Given the description of an element on the screen output the (x, y) to click on. 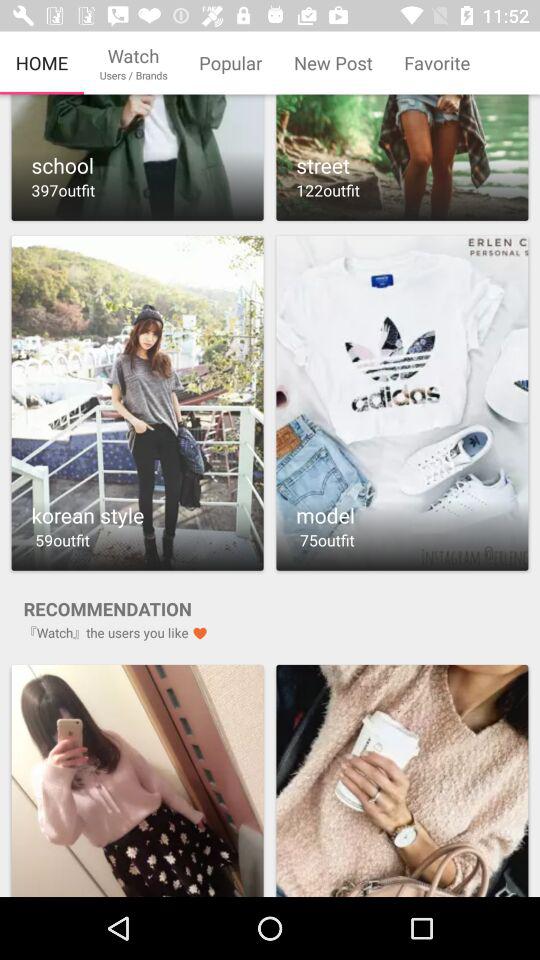
watch video select (137, 402)
